Given the description of an element on the screen output the (x, y) to click on. 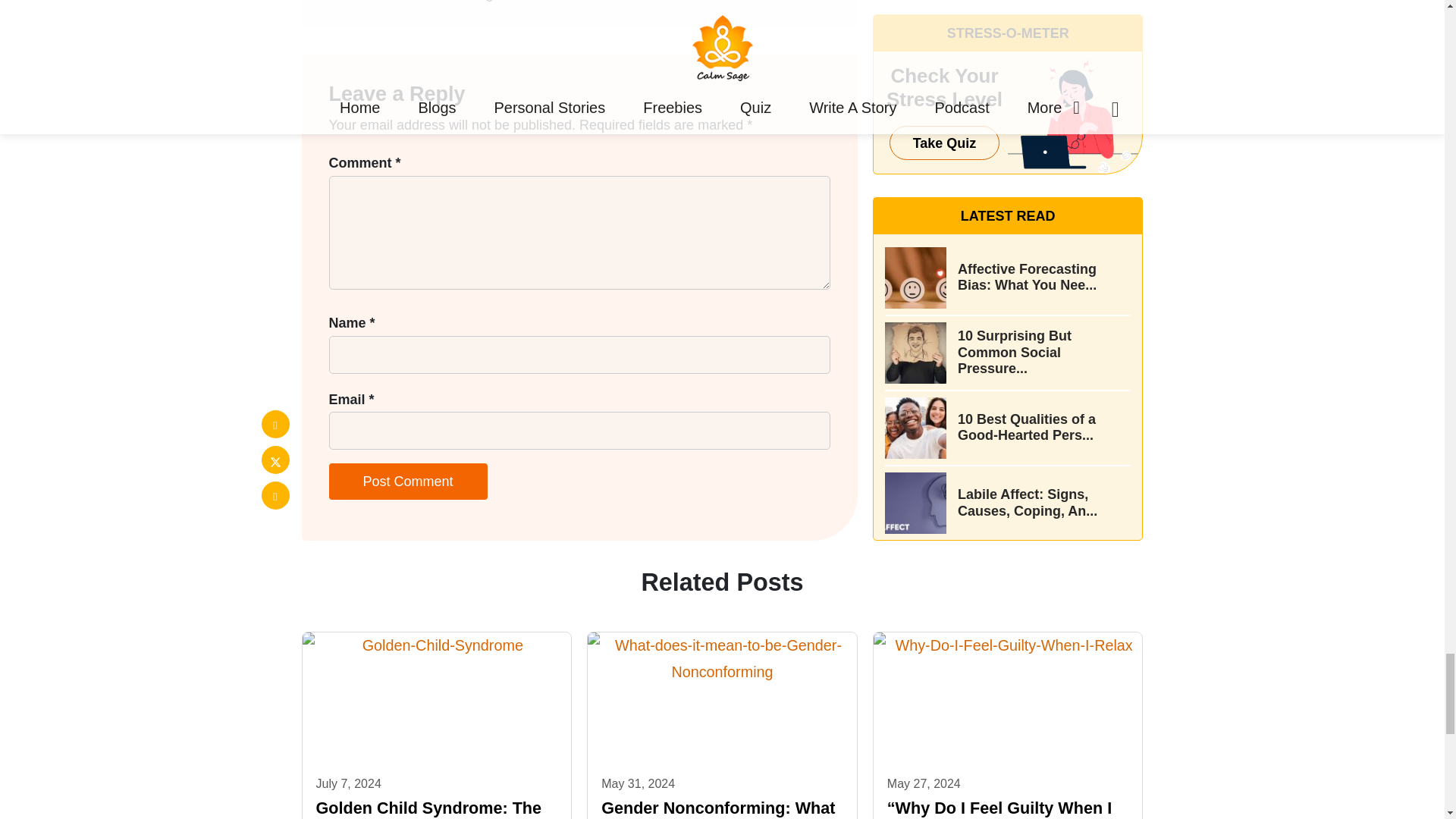
Post Comment (408, 481)
Post Comment (408, 481)
